Given the description of an element on the screen output the (x, y) to click on. 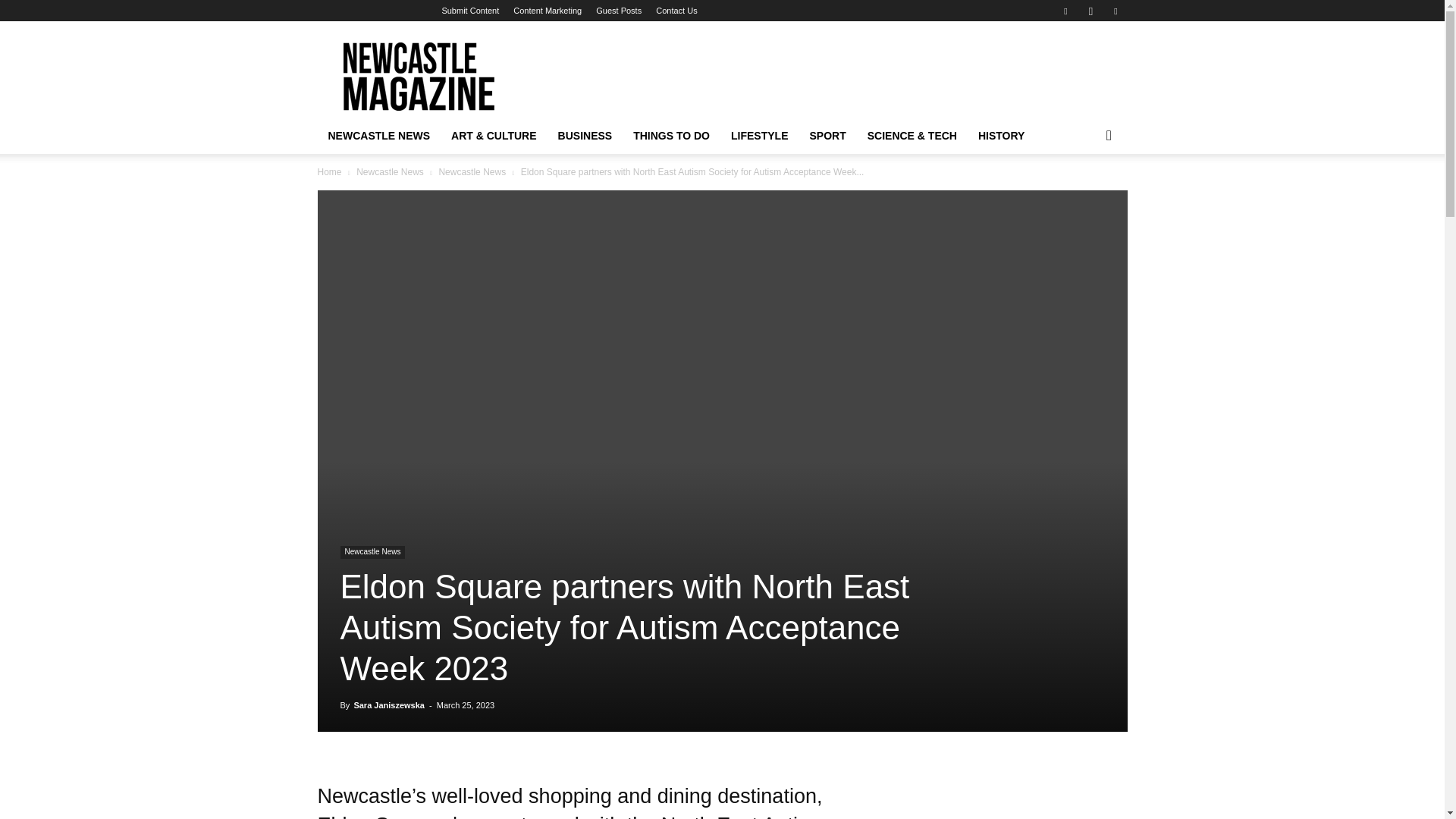
View all posts in Newcastle News (389, 172)
View all posts in Newcastle News (471, 172)
Contact Us (676, 10)
Submit Content (470, 10)
Content Marketing (546, 10)
Guest Posts (618, 10)
NEWCASTLE NEWS (379, 135)
Instagram (1090, 10)
Twitter (1114, 10)
Facebook (1065, 10)
